Given the description of an element on the screen output the (x, y) to click on. 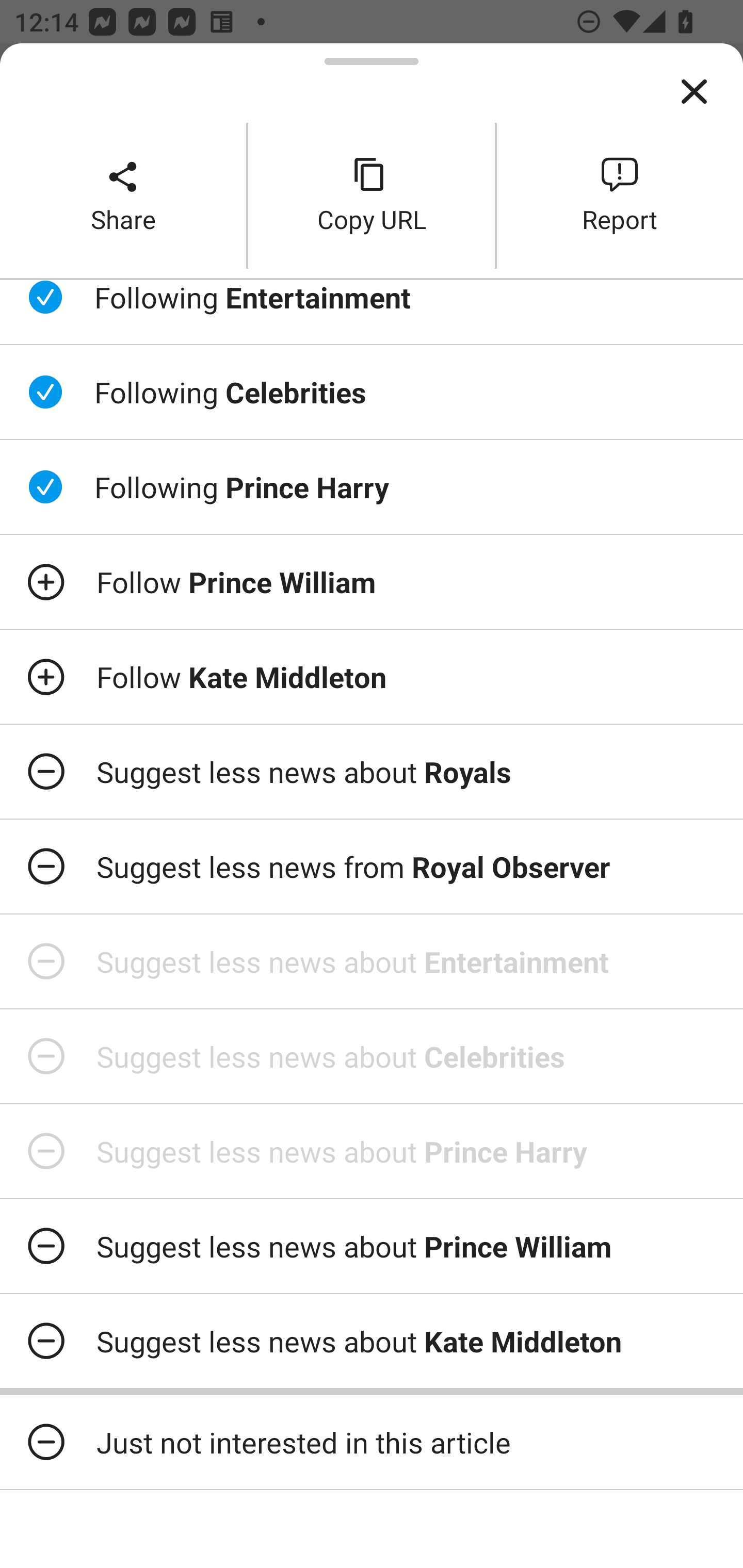
Close (694, 91)
Share (122, 195)
Copy URL (371, 195)
Report (620, 195)
Following Entertainment (371, 311)
Following Celebrities (371, 391)
Following Prince Harry (371, 486)
Follow Prince William (371, 581)
Follow Kate Middleton (371, 677)
Suggest less news about Royals (371, 771)
Suggest less news from Royal Observer (371, 867)
Suggest less news about Prince William (371, 1246)
Suggest less news about Kate Middleton (371, 1340)
Just not interested in this article (371, 1442)
